Given the description of an element on the screen output the (x, y) to click on. 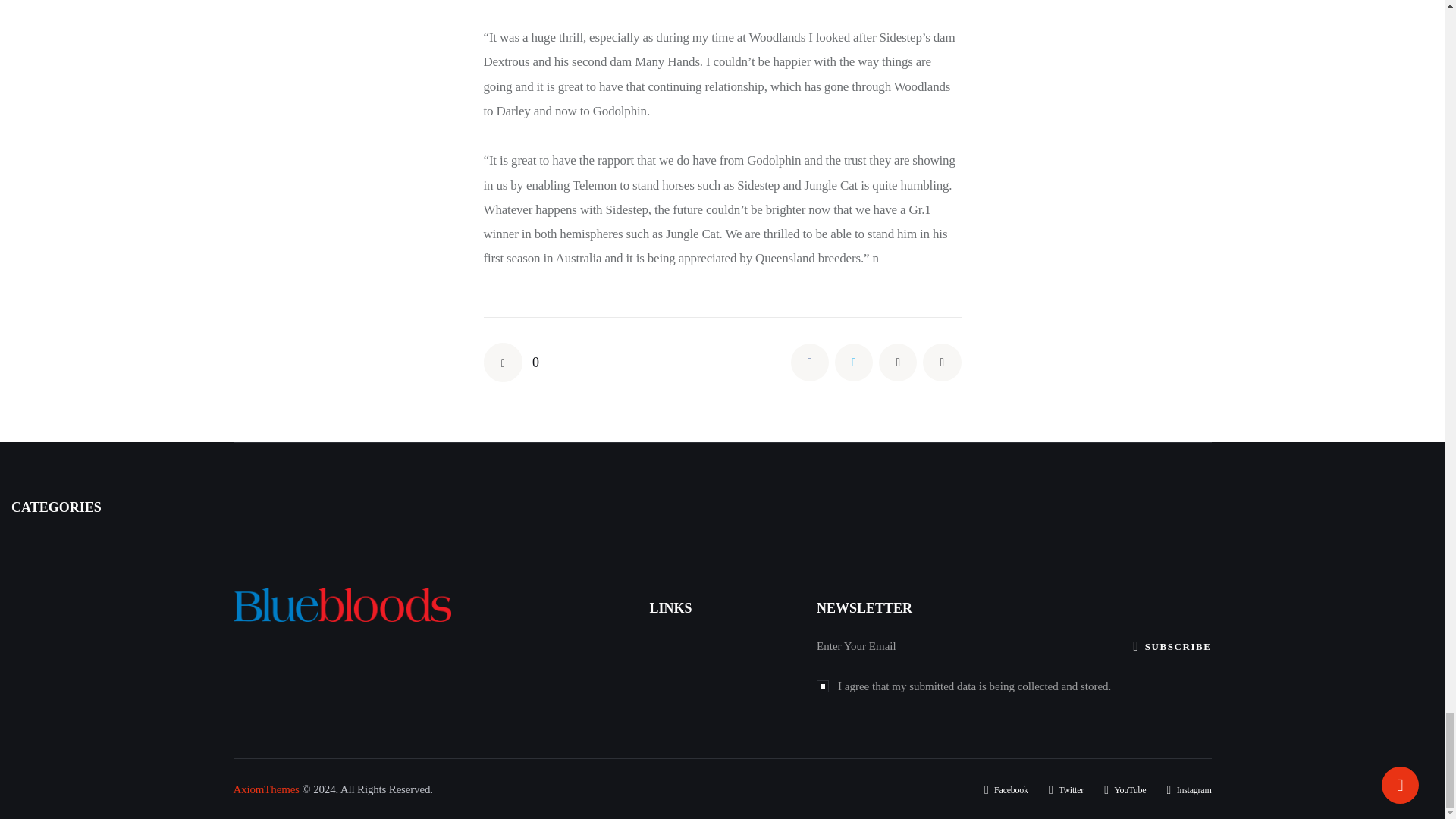
Copy URL to clipboard (941, 362)
1 (821, 684)
Like (511, 362)
